Given the description of an element on the screen output the (x, y) to click on. 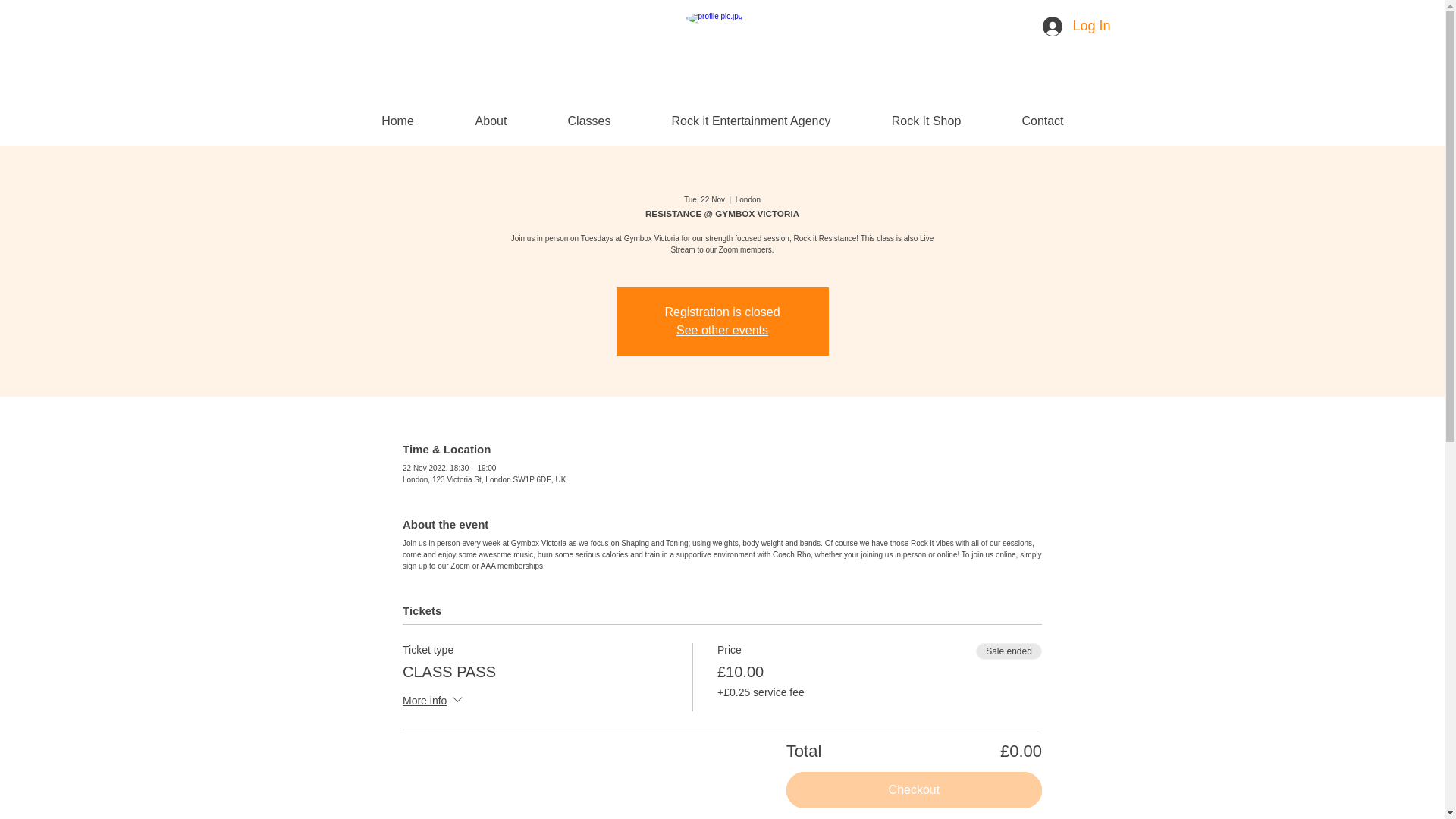
Rock It Shop (926, 120)
About (490, 120)
Rock it Entertainment Agency (751, 120)
Home (397, 120)
More info (434, 701)
Contact (1042, 120)
Classes (588, 120)
See other events (722, 329)
Checkout (914, 790)
Log In (1061, 26)
